Given the description of an element on the screen output the (x, y) to click on. 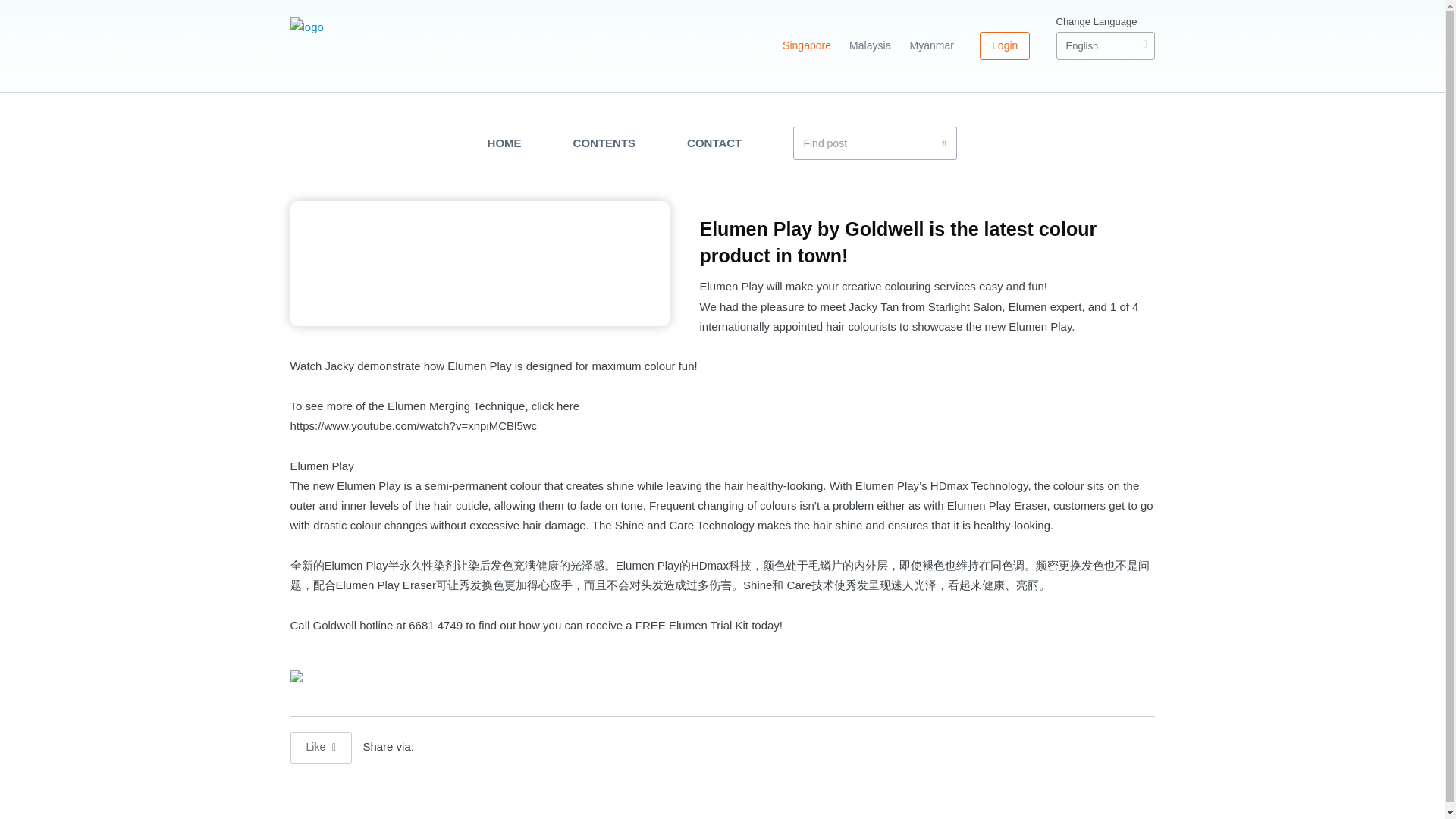
Login (1004, 45)
HOME (504, 143)
Like (320, 747)
CONTENTS (604, 143)
CONTACT (714, 143)
